Given the description of an element on the screen output the (x, y) to click on. 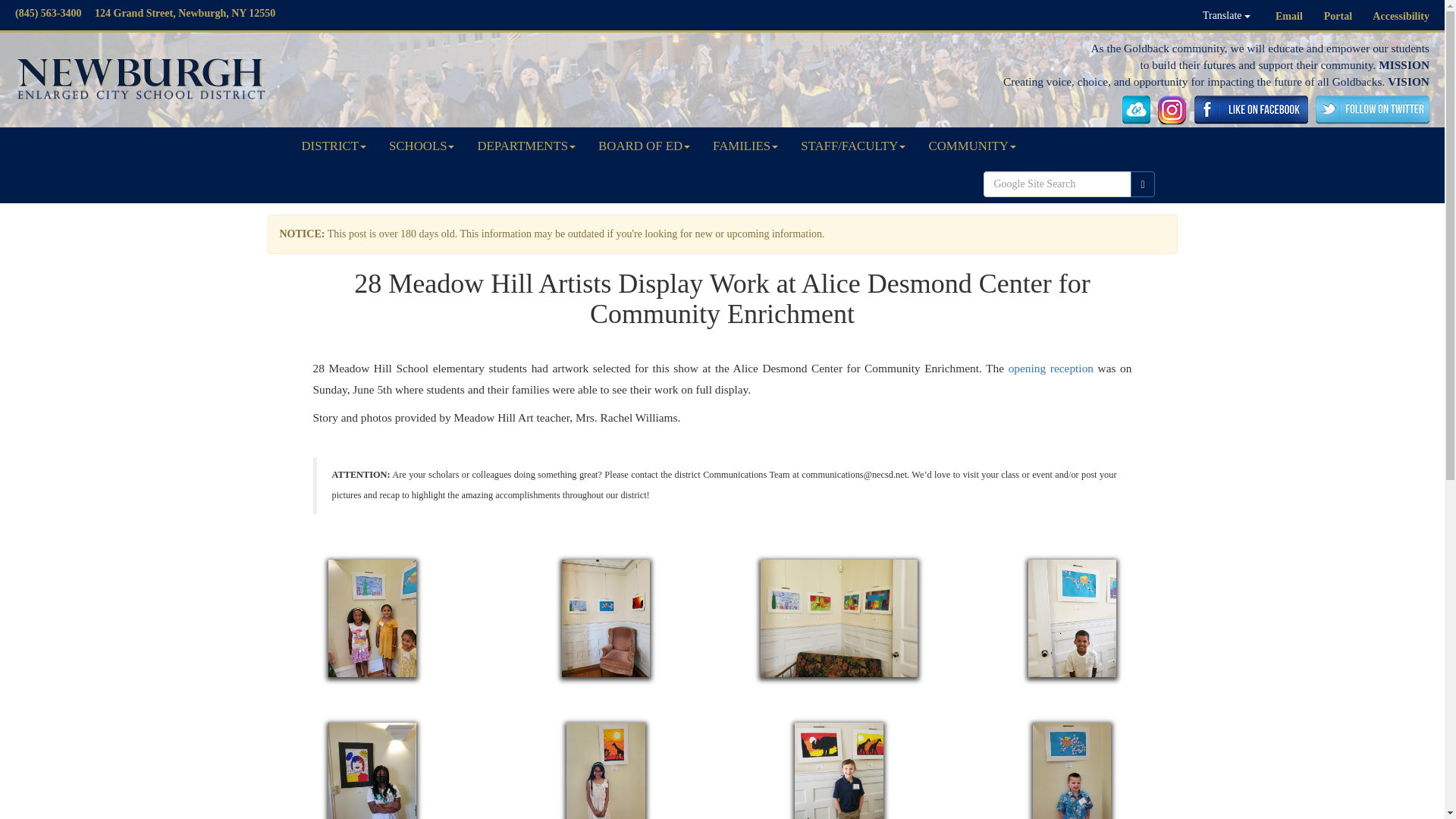
SCHOOLS (421, 146)
Portal (1337, 16)
Accessibility (1401, 16)
DISTRICT (333, 146)
Email (1289, 16)
Translate (1226, 15)
